Given the description of an element on the screen output the (x, y) to click on. 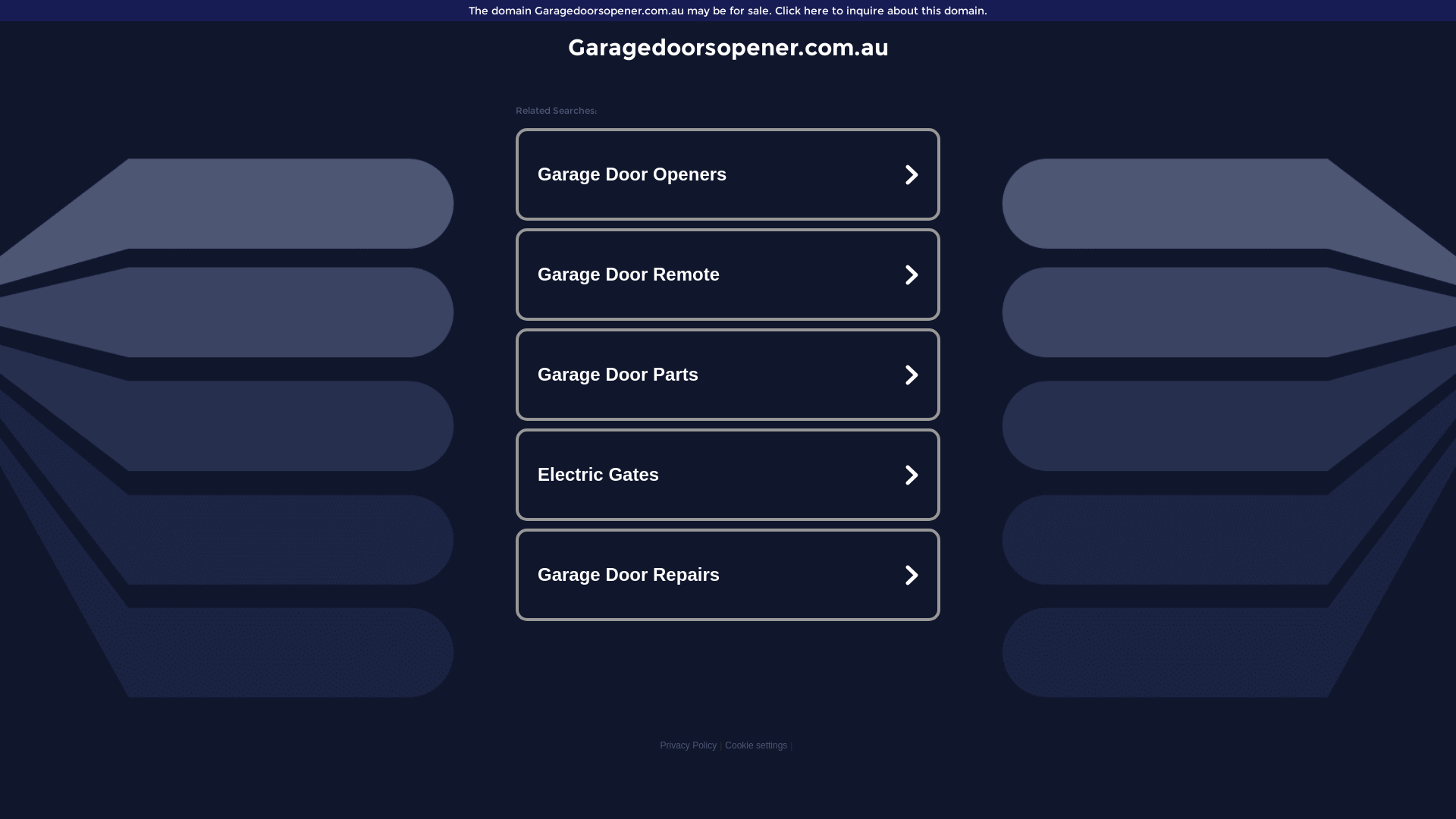
Cookie settings Element type: text (755, 745)
Electric Gates Element type: text (727, 474)
Garage Door Repairs Element type: text (727, 574)
Garage Door Remote Element type: text (727, 274)
Garage Door Openers Element type: text (727, 174)
Privacy Policy Element type: text (687, 745)
Garage Door Parts Element type: text (727, 374)
Garagedoorsopener.com.au Element type: text (727, 47)
